Given the description of an element on the screen output the (x, y) to click on. 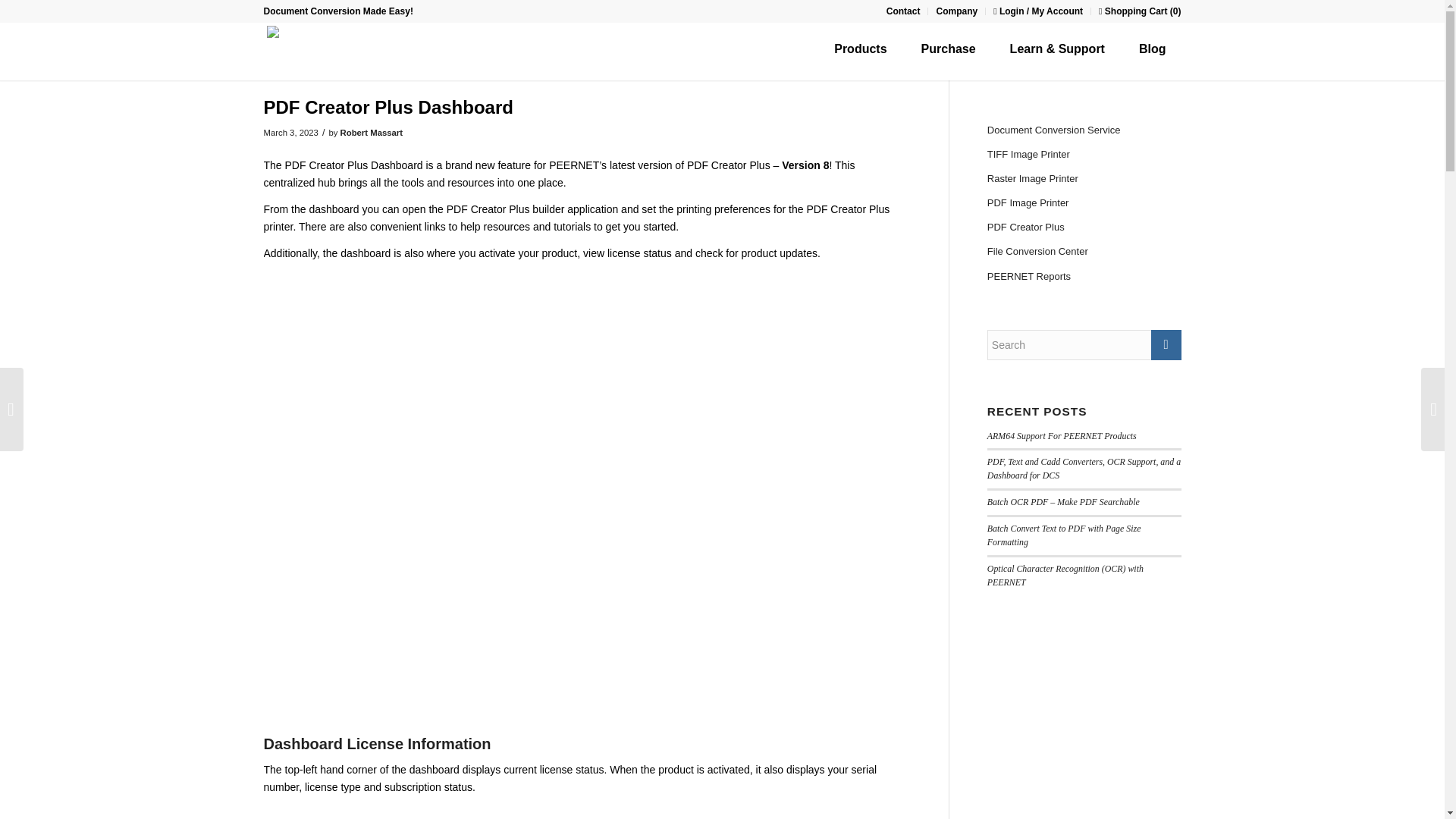
peernet-logo (290, 33)
peernet-logo (290, 51)
Contact (903, 11)
Click to start search (1165, 345)
Posts by Robert Massart (371, 132)
Company (956, 11)
